Given the description of an element on the screen output the (x, y) to click on. 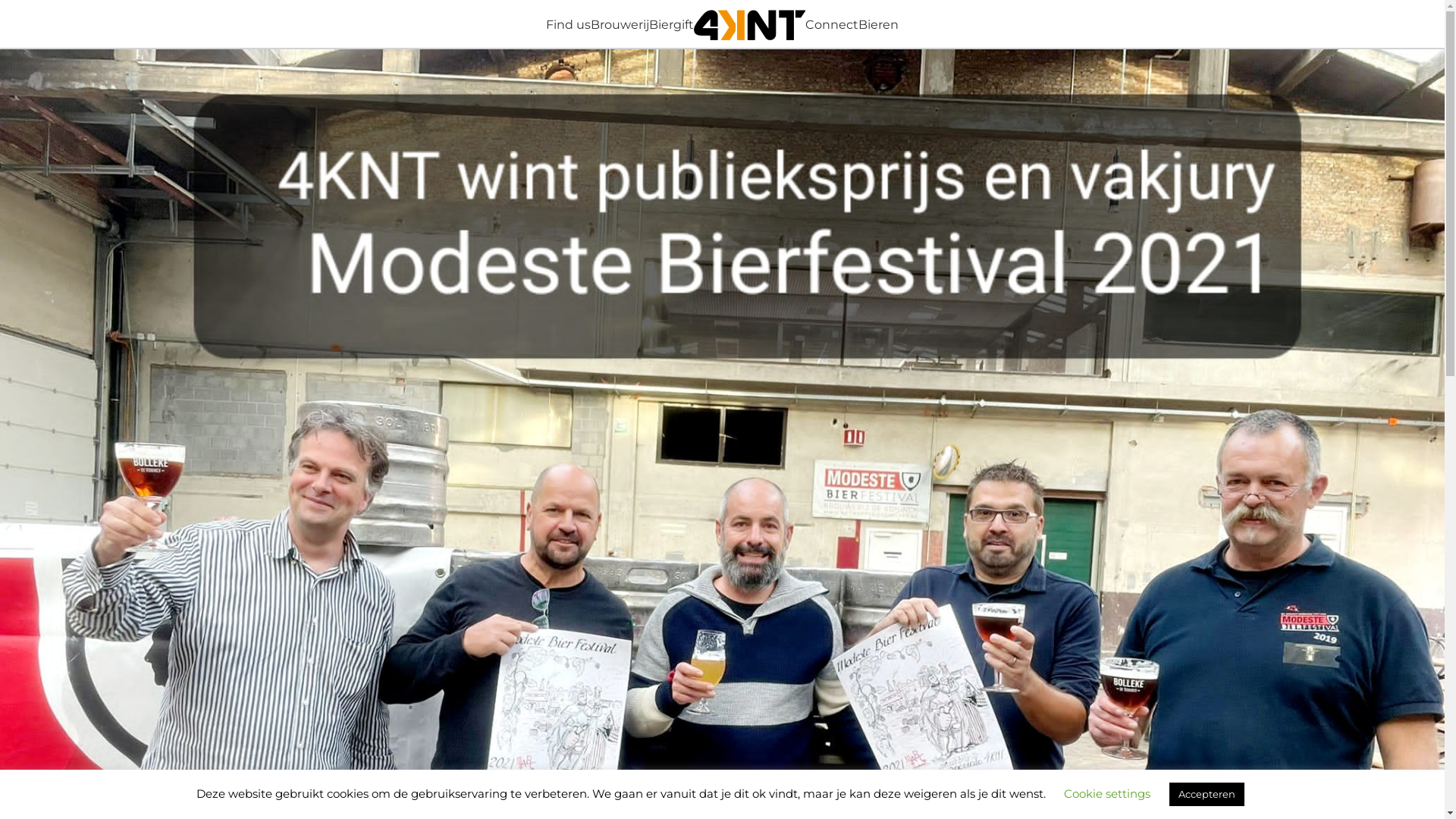
Find us Element type: text (568, 24)
Connect Element type: text (831, 24)
Biergift Element type: text (671, 24)
Brouwerij Element type: text (619, 24)
Cookie settings Element type: text (1106, 793)
Bieren Element type: text (878, 24)
Accepteren Element type: text (1206, 794)
